Given the description of an element on the screen output the (x, y) to click on. 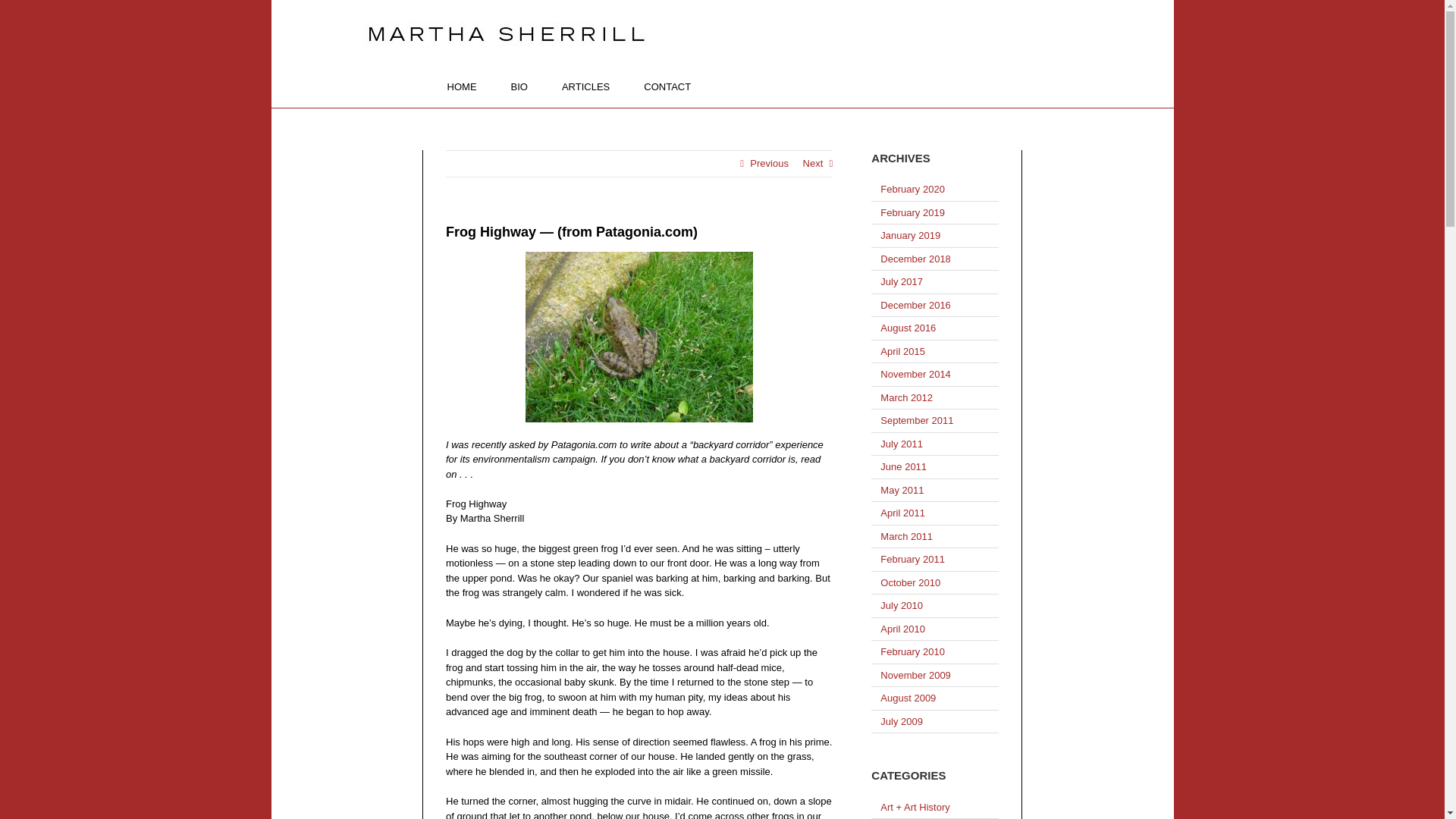
SPRING 2009 042 (638, 336)
August 2016 (908, 327)
July 2017 (901, 281)
Previous (769, 163)
February 2019 (912, 212)
June 2011 (903, 466)
ARTICLES (586, 86)
December 2016 (915, 305)
July 2011 (901, 443)
CONTACT (666, 86)
